Given the description of an element on the screen output the (x, y) to click on. 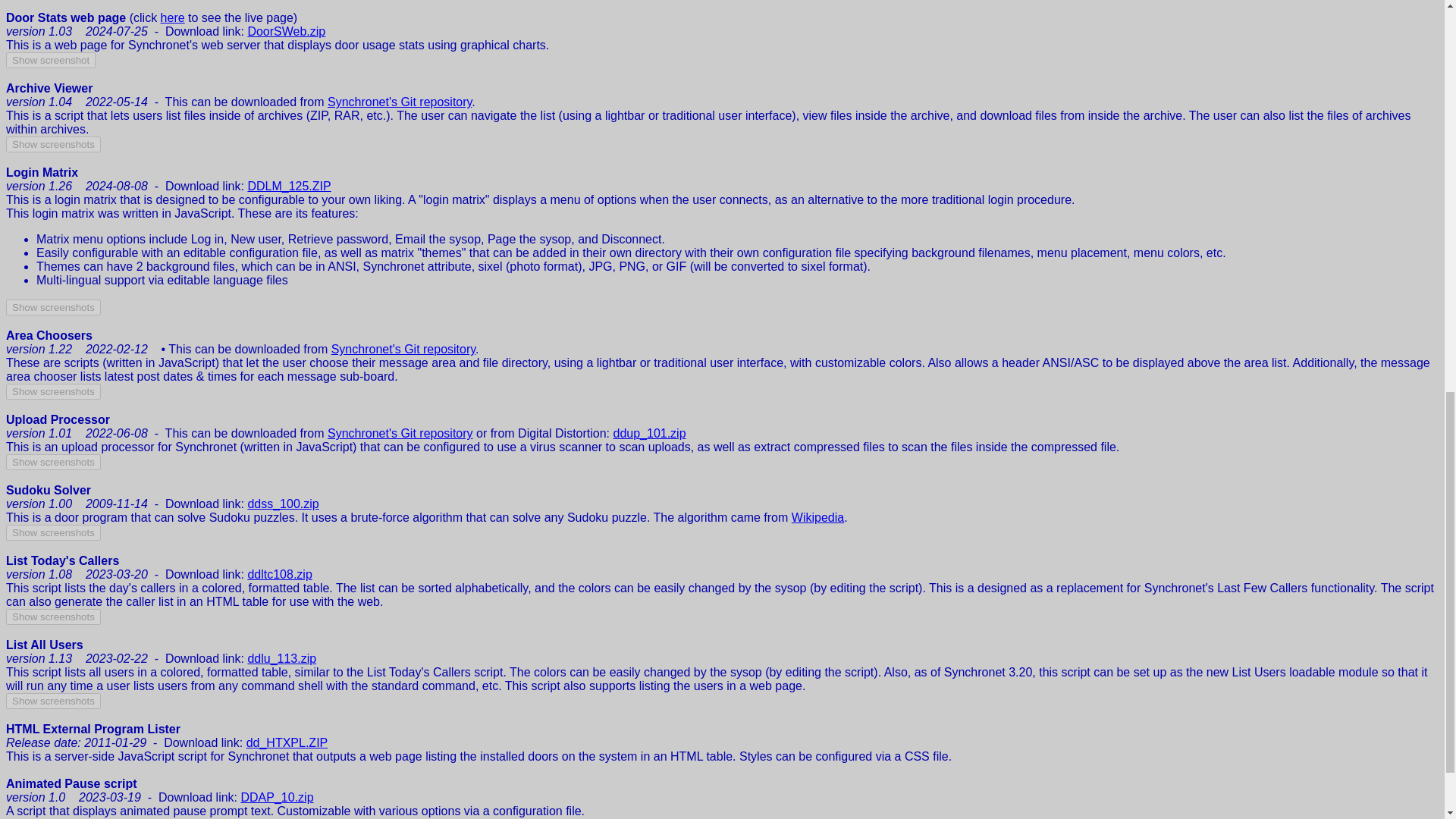
Show screenshots (52, 307)
Synchronet's Git repository (400, 432)
Show screenshots (52, 391)
Synchronet's Git repository (403, 349)
Synchronet's Git repository (399, 101)
Show screenshots (52, 144)
here (172, 17)
Show screenshot (50, 59)
DoorSWeb.zip (285, 31)
